Given the description of an element on the screen output the (x, y) to click on. 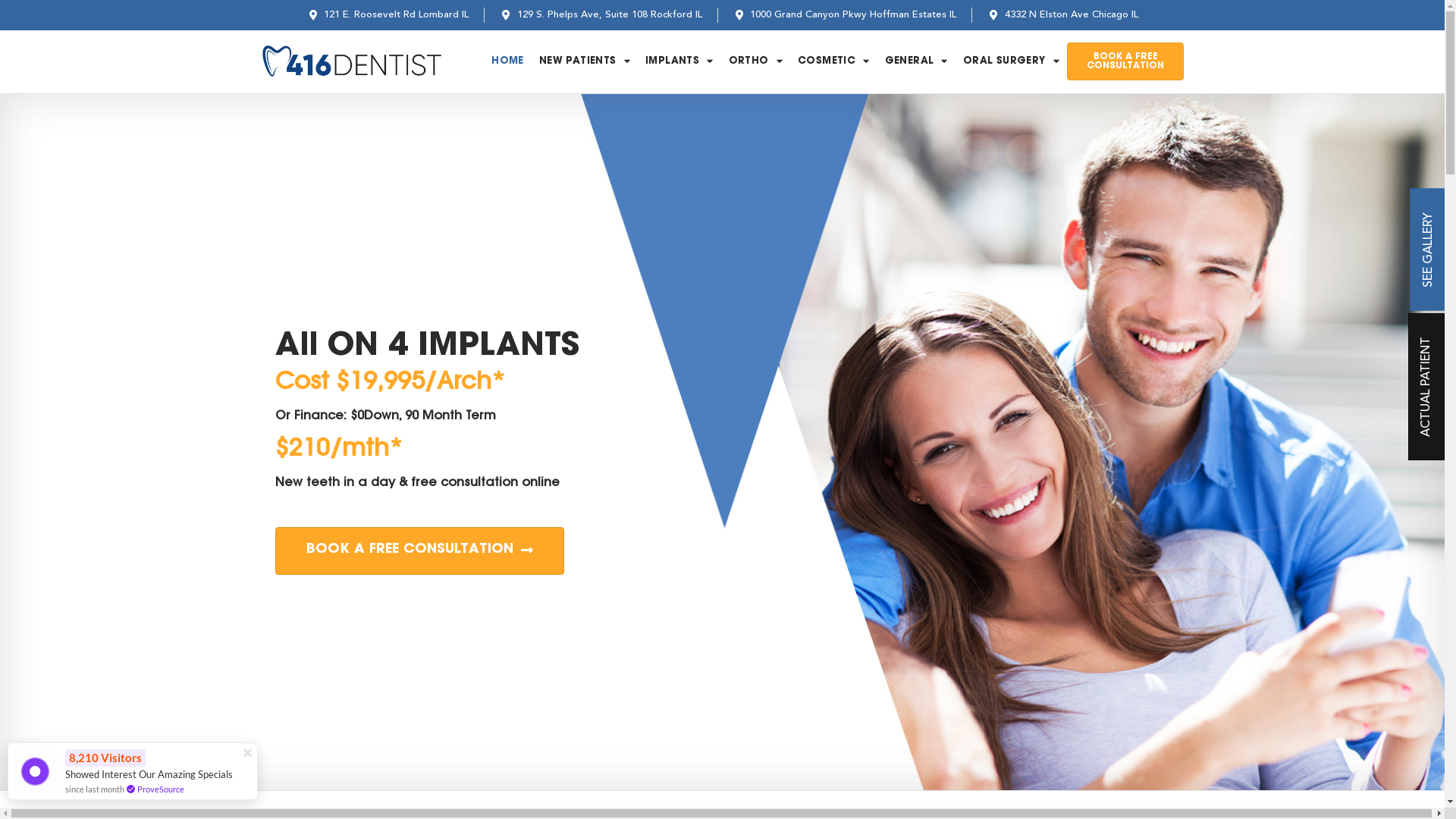
ORAL SURGERY Element type: text (1011, 60)
IMPLANTS Element type: text (679, 60)
BOOK A FREE CONSULTATION Element type: text (418, 550)
HOME Element type: text (507, 60)
ORTHO Element type: text (755, 60)
121 E. Roosevelt Rd Lombard IL Element type: text (387, 14)
COSMETIC Element type: text (833, 60)
ProveSource Element type: text (160, 788)
NEW PATIENTS Element type: text (584, 60)
4332 N Elston Ave Chicago IL Element type: text (1062, 14)
129 S. Phelps Ave, Suite 108 Rockford IL Element type: text (600, 14)
1000 Grand Canyon Pkwy Hoffman Estates IL Element type: text (844, 14)
BOOK A FREE CONSULTATION Element type: text (1124, 61)
GENERAL Element type: text (915, 60)
